Given the description of an element on the screen output the (x, y) to click on. 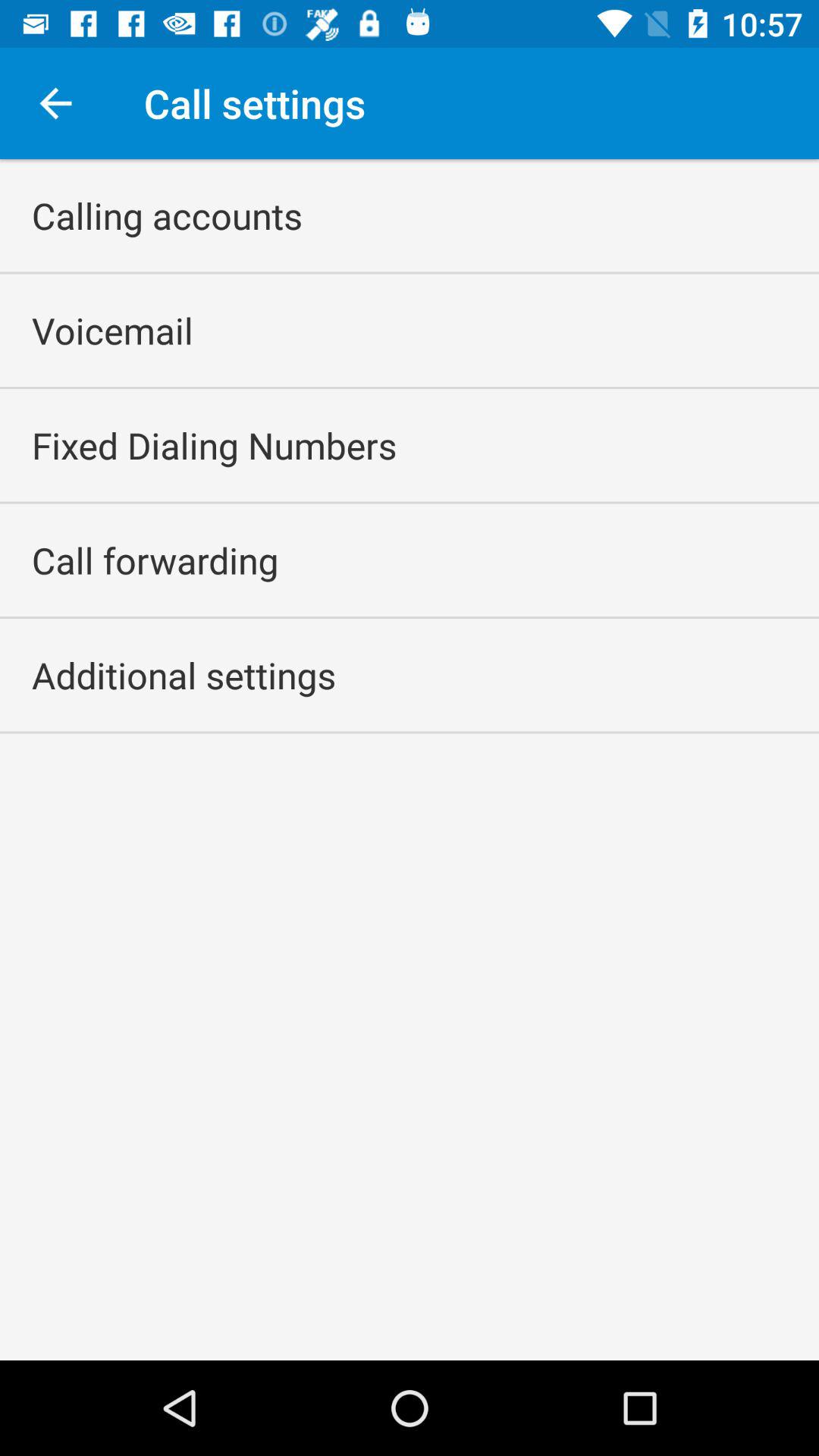
scroll until the calling accounts icon (166, 215)
